Given the description of an element on the screen output the (x, y) to click on. 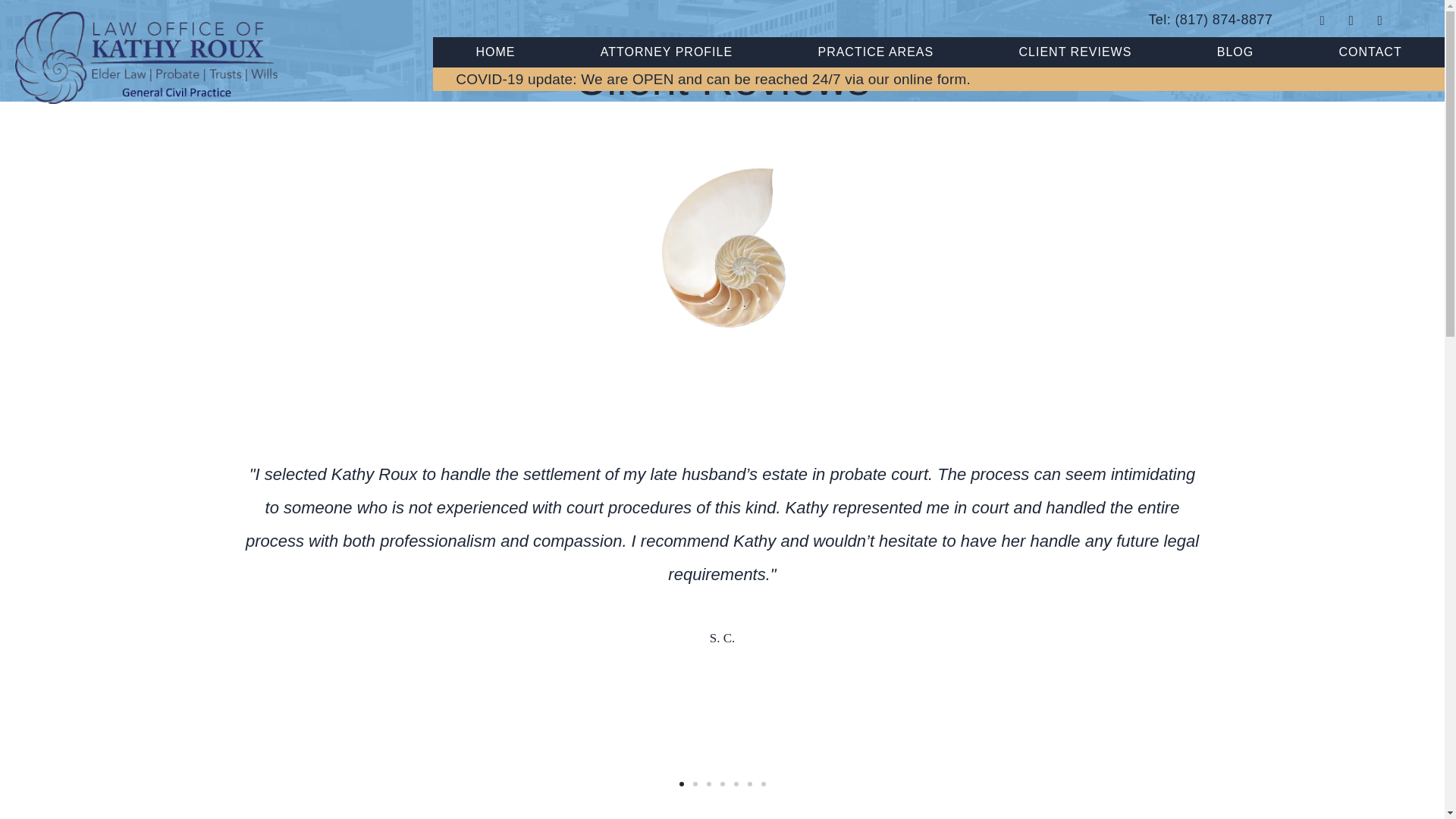
HOME (494, 51)
ATTORNEY PROFILE (666, 51)
PRACTICE AREAS (874, 51)
CONTACT (1369, 51)
online form (929, 75)
CLIENT REVIEWS (1074, 51)
BLOG (1235, 51)
